Given the description of an element on the screen output the (x, y) to click on. 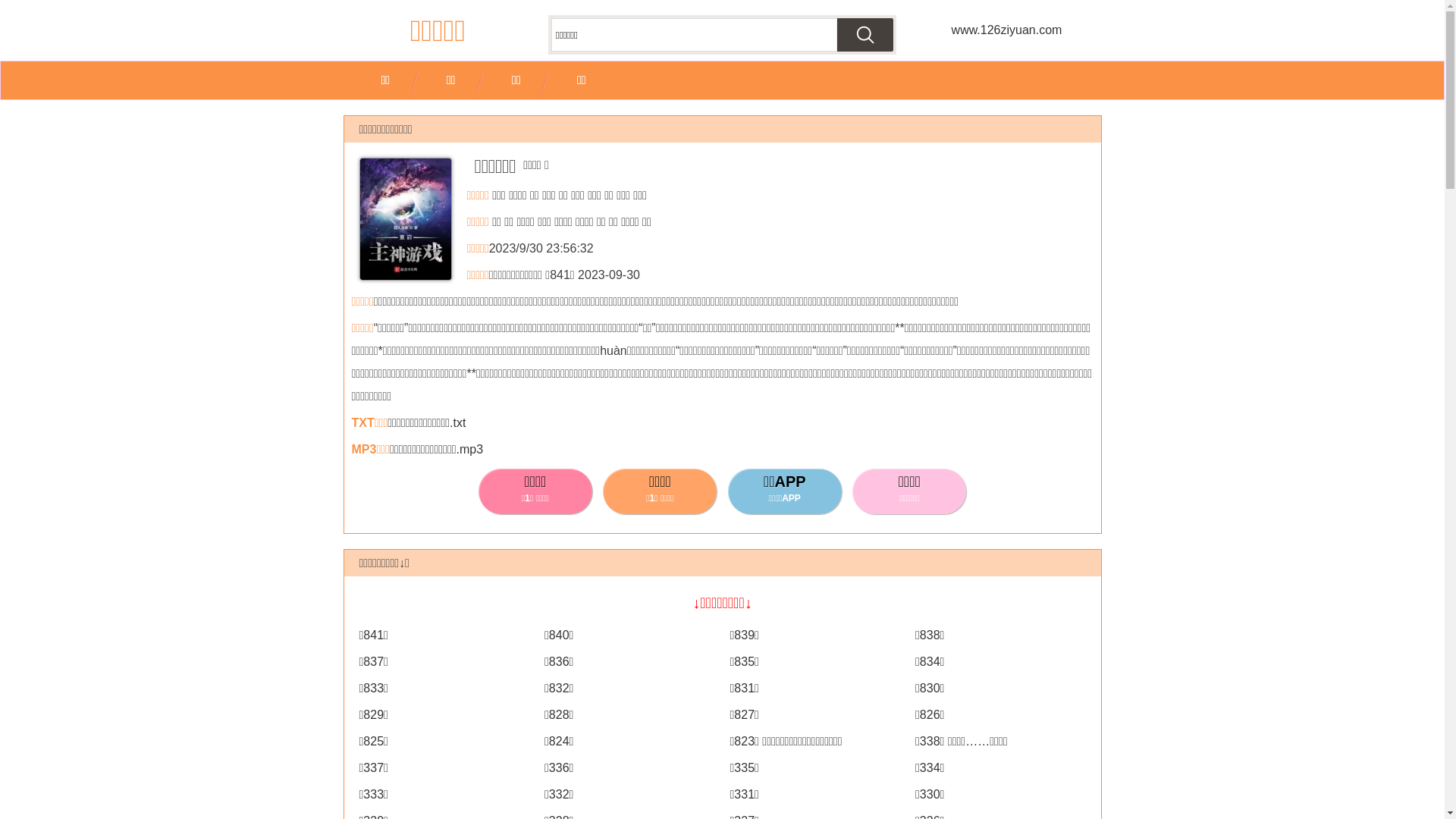
www.126ziyuan.com Element type: text (1006, 30)
